Given the description of an element on the screen output the (x, y) to click on. 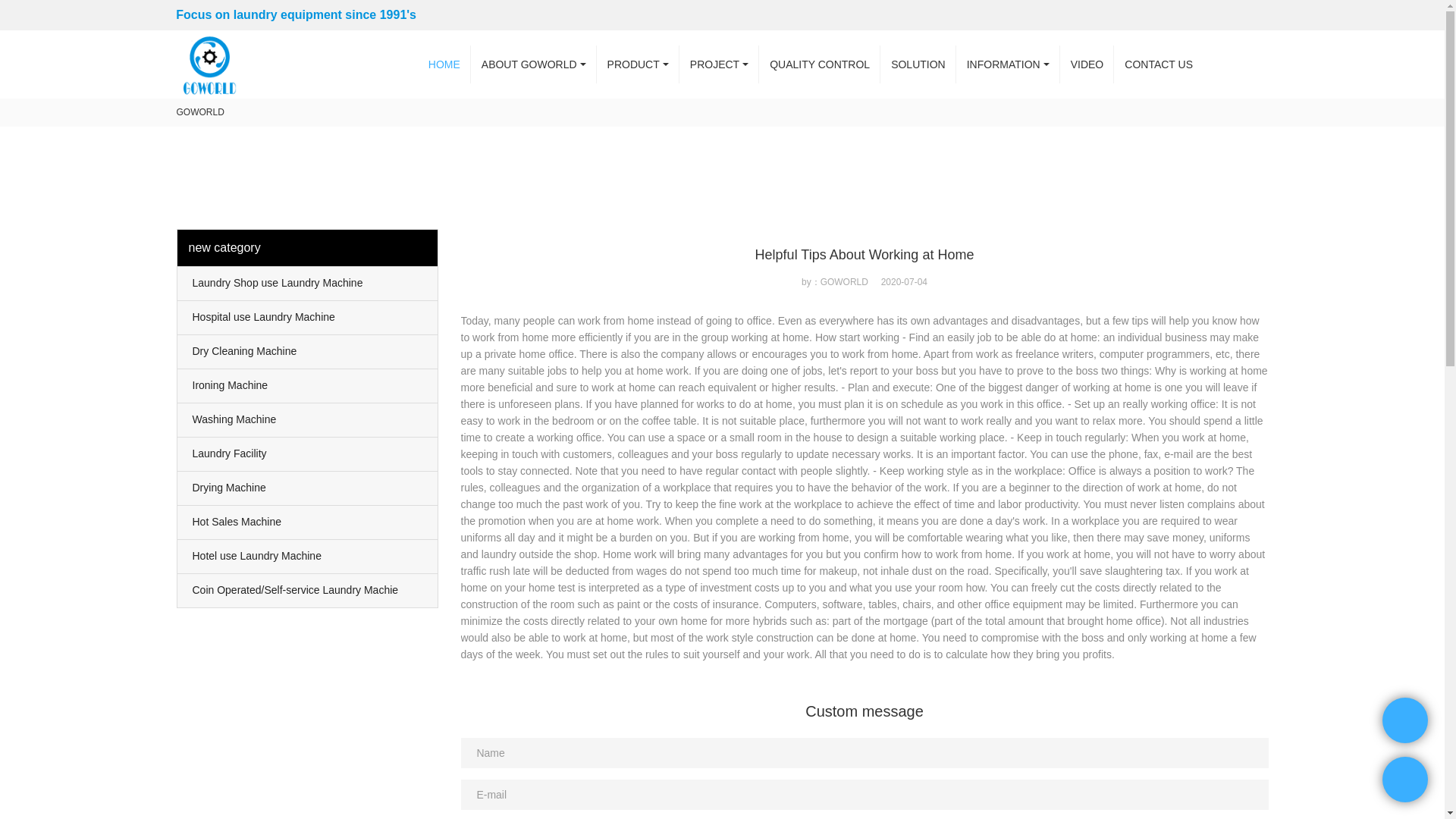
INFORMATION (1007, 64)
ABOUT GOWORLD (533, 64)
QUALITY CONTROL (819, 64)
SOLUTION (918, 64)
Laundry Shop use Laundry Machine (307, 283)
VIDEO (1087, 64)
GOWORLD (200, 112)
Dry Cleaning Machine (307, 351)
HOME (443, 64)
Hospital use Laundry Machine (307, 317)
CONTACT US (1158, 64)
PROJECT (718, 64)
PRODUCT (637, 64)
